Given the description of an element on the screen output the (x, y) to click on. 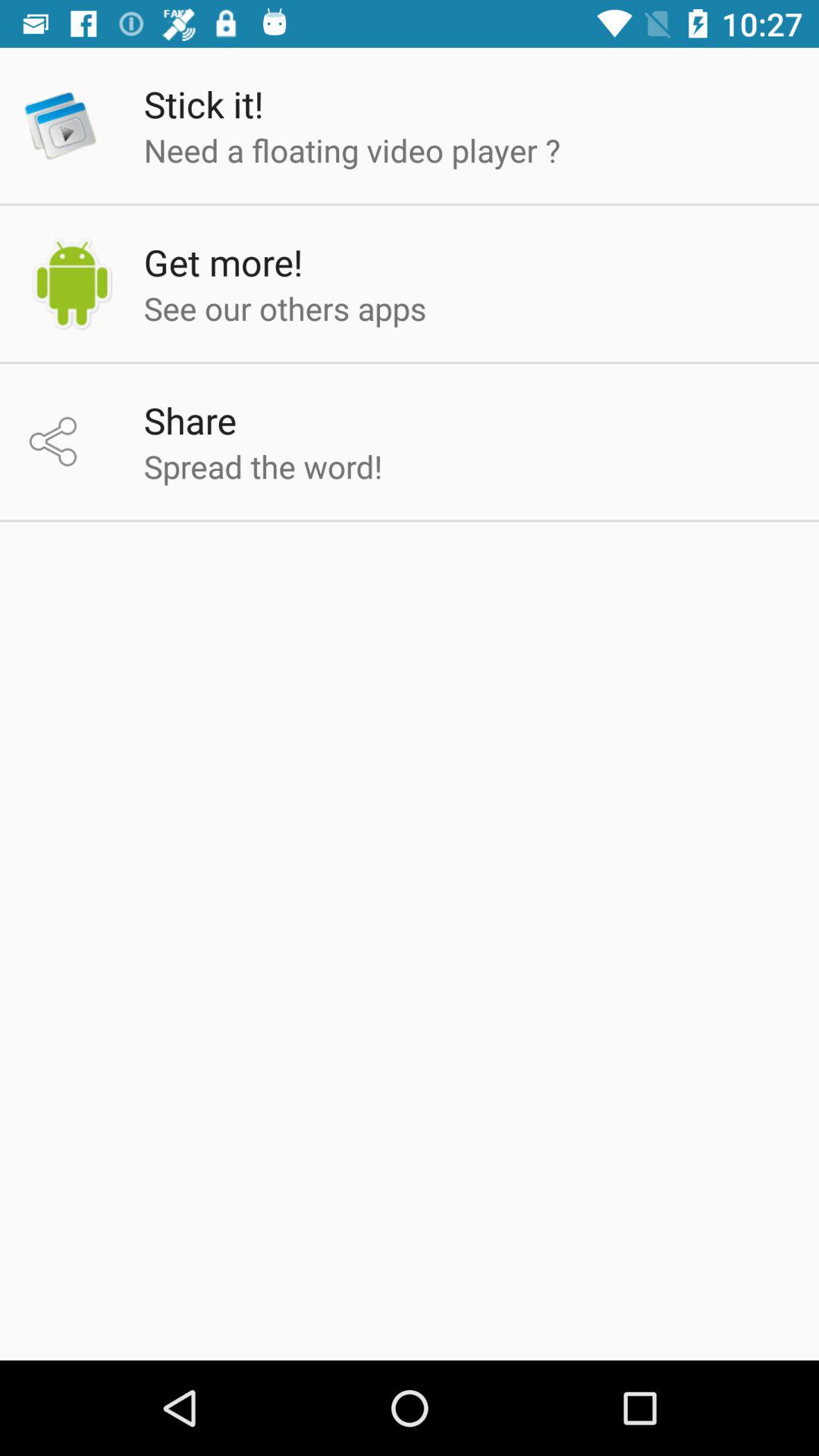
choose icon above the need a floating (203, 103)
